Given the description of an element on the screen output the (x, y) to click on. 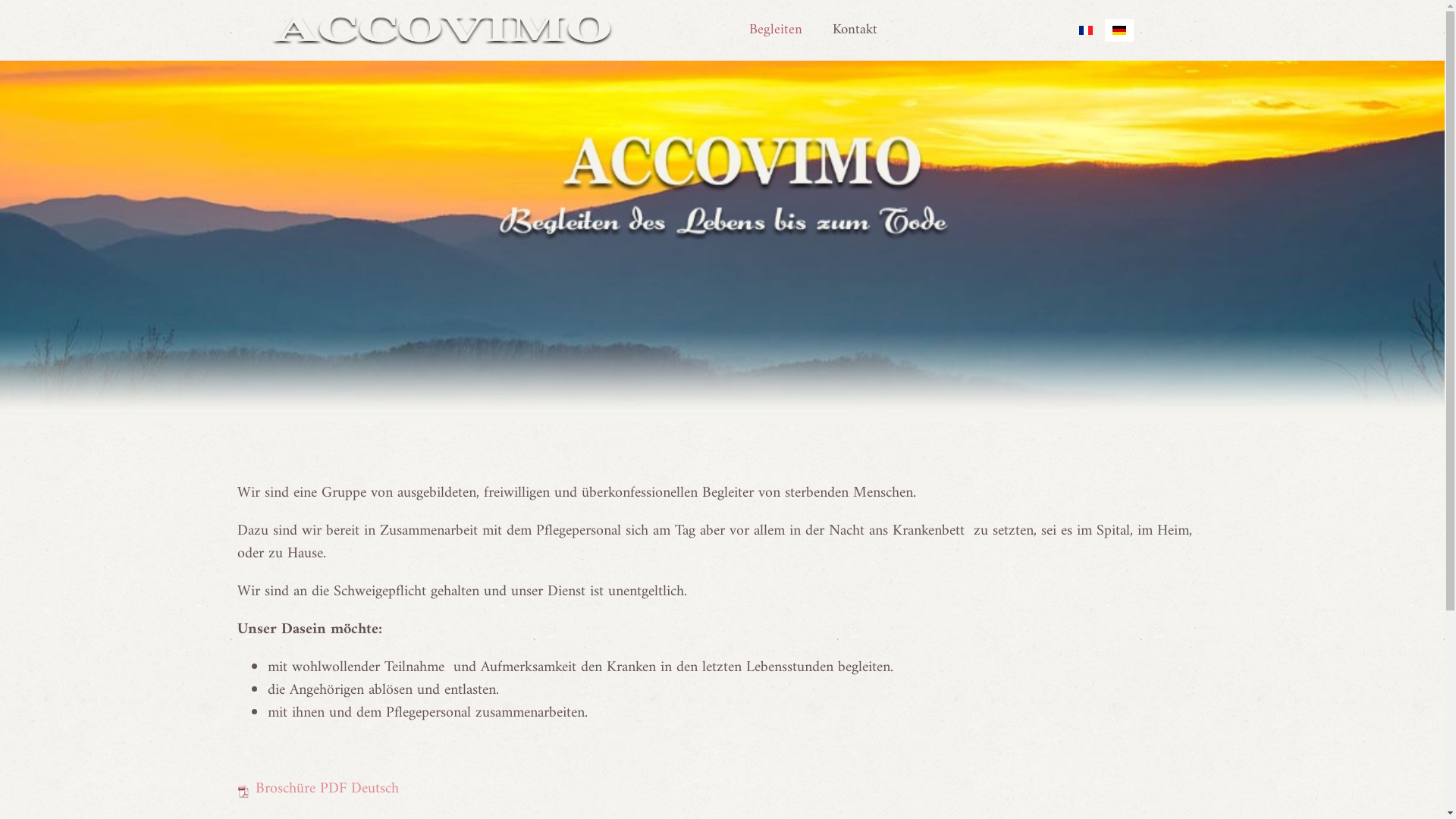
Begleiten Element type: text (775, 30)
Kontakt Element type: text (854, 30)
Deutsch (DE) Element type: hover (1118, 29)
